Given the description of an element on the screen output the (x, y) to click on. 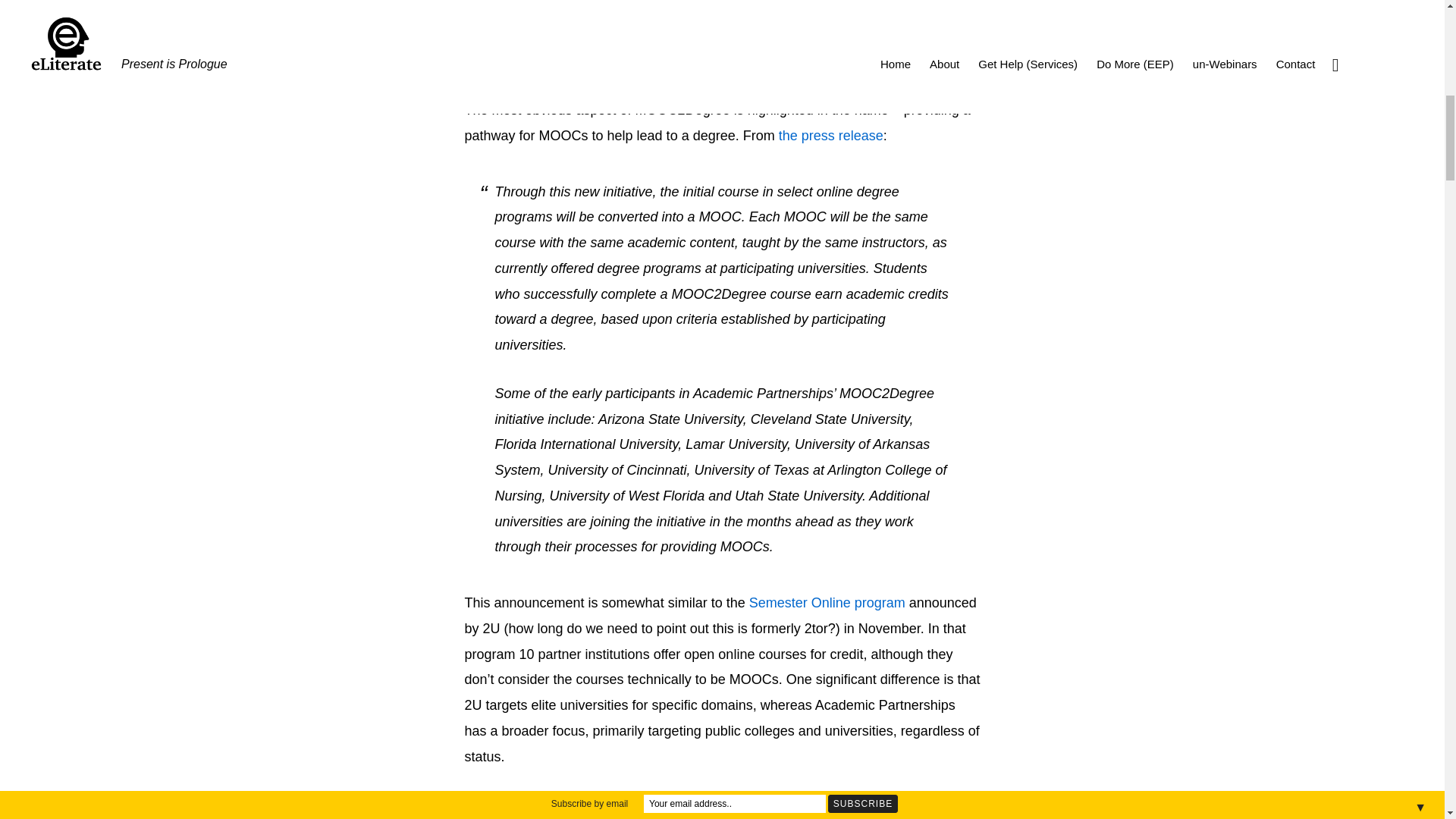
Semester Online program (827, 602)
the press release (830, 135)
